Given the description of an element on the screen output the (x, y) to click on. 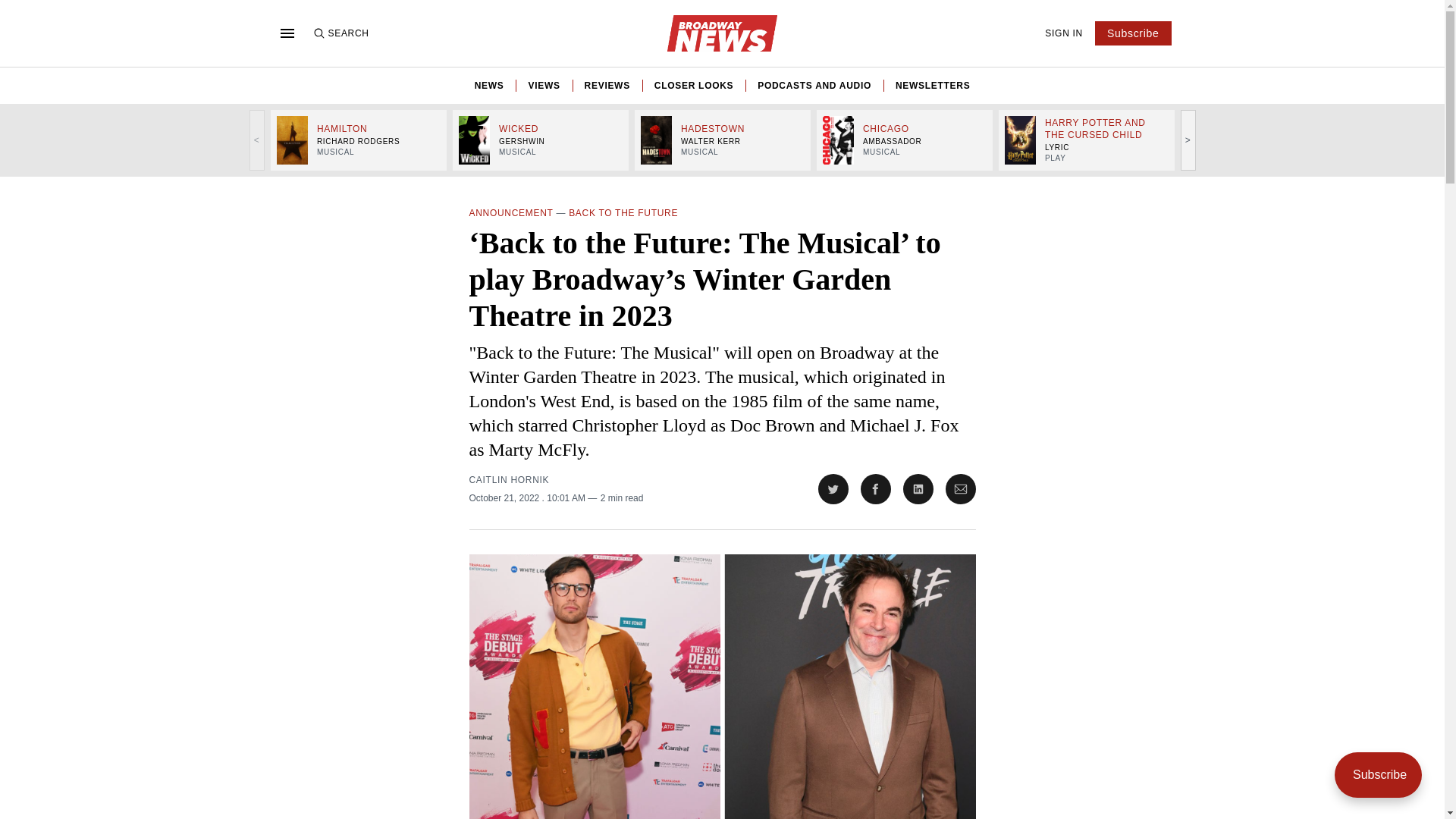
SIGN IN (1064, 33)
Subscribe (1133, 33)
VIEWS (543, 85)
CLOSER LOOKS (693, 85)
NEWSLETTERS (932, 85)
SEARCH (340, 33)
REVIEWS (607, 85)
NEWS (488, 85)
PODCASTS AND AUDIO (813, 85)
